Given the description of an element on the screen output the (x, y) to click on. 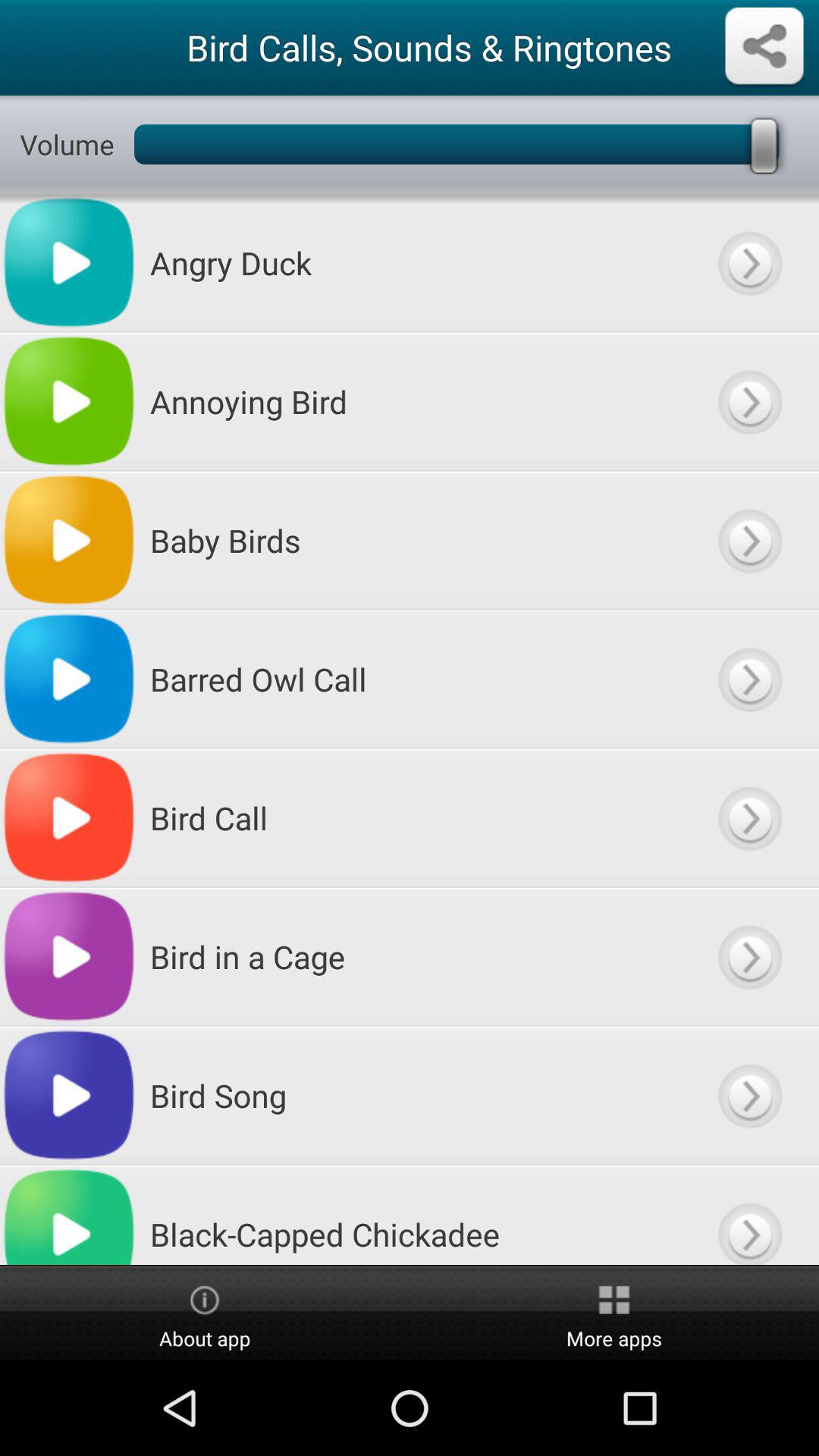
open menu (749, 1214)
